Given the description of an element on the screen output the (x, y) to click on. 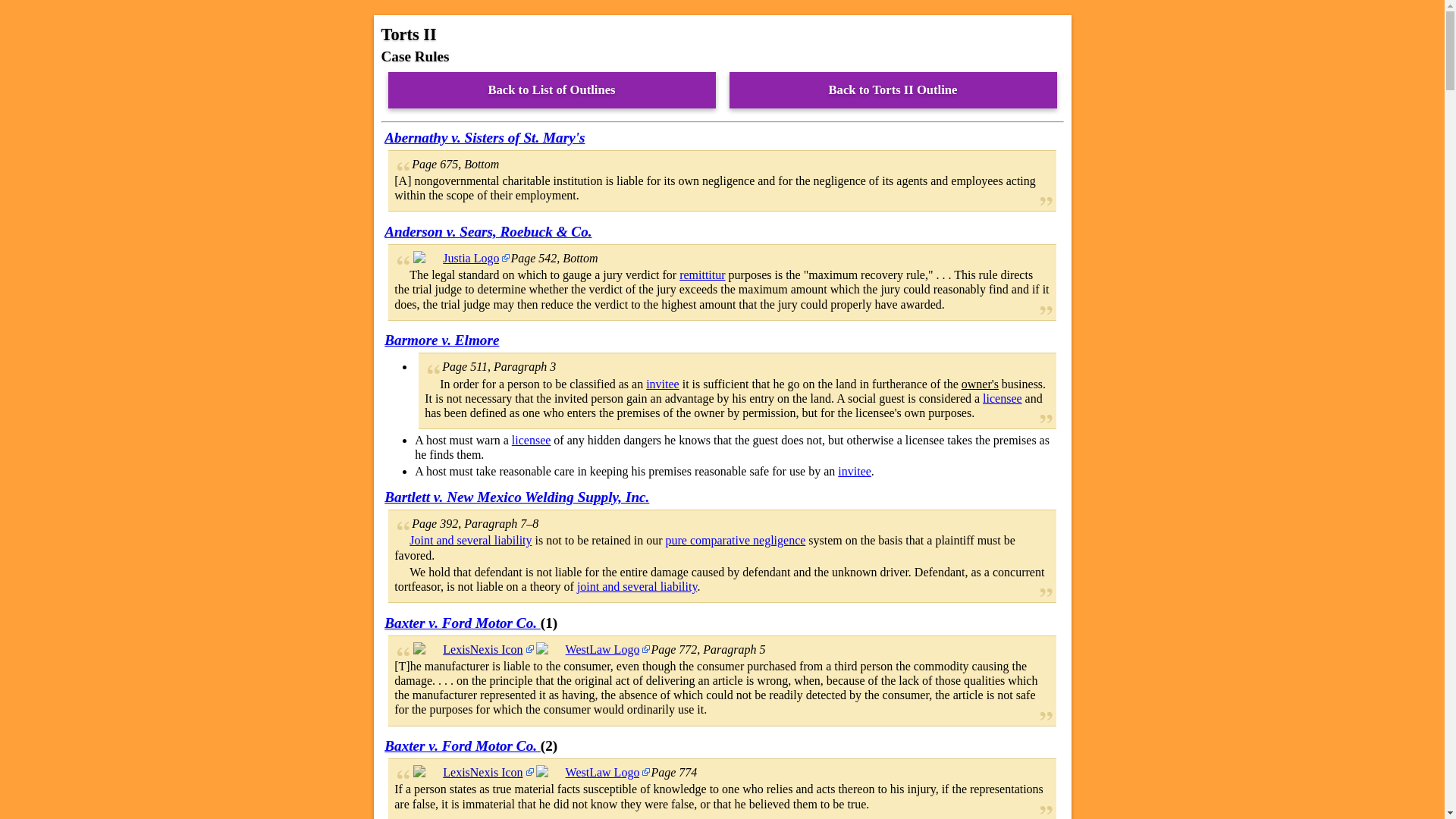
licensee (1002, 398)
Bartlett v. New Mexico Welding Supply, Inc. (516, 496)
Back to List of Outlines (552, 90)
View page 128 on WestLaw (592, 771)
invitee (662, 383)
licensee (531, 440)
Baxter v. Ford Motor Co. (462, 622)
Back to Torts II Outline (893, 90)
Joint and several liability (470, 540)
invitee (854, 471)
